Given the description of an element on the screen output the (x, y) to click on. 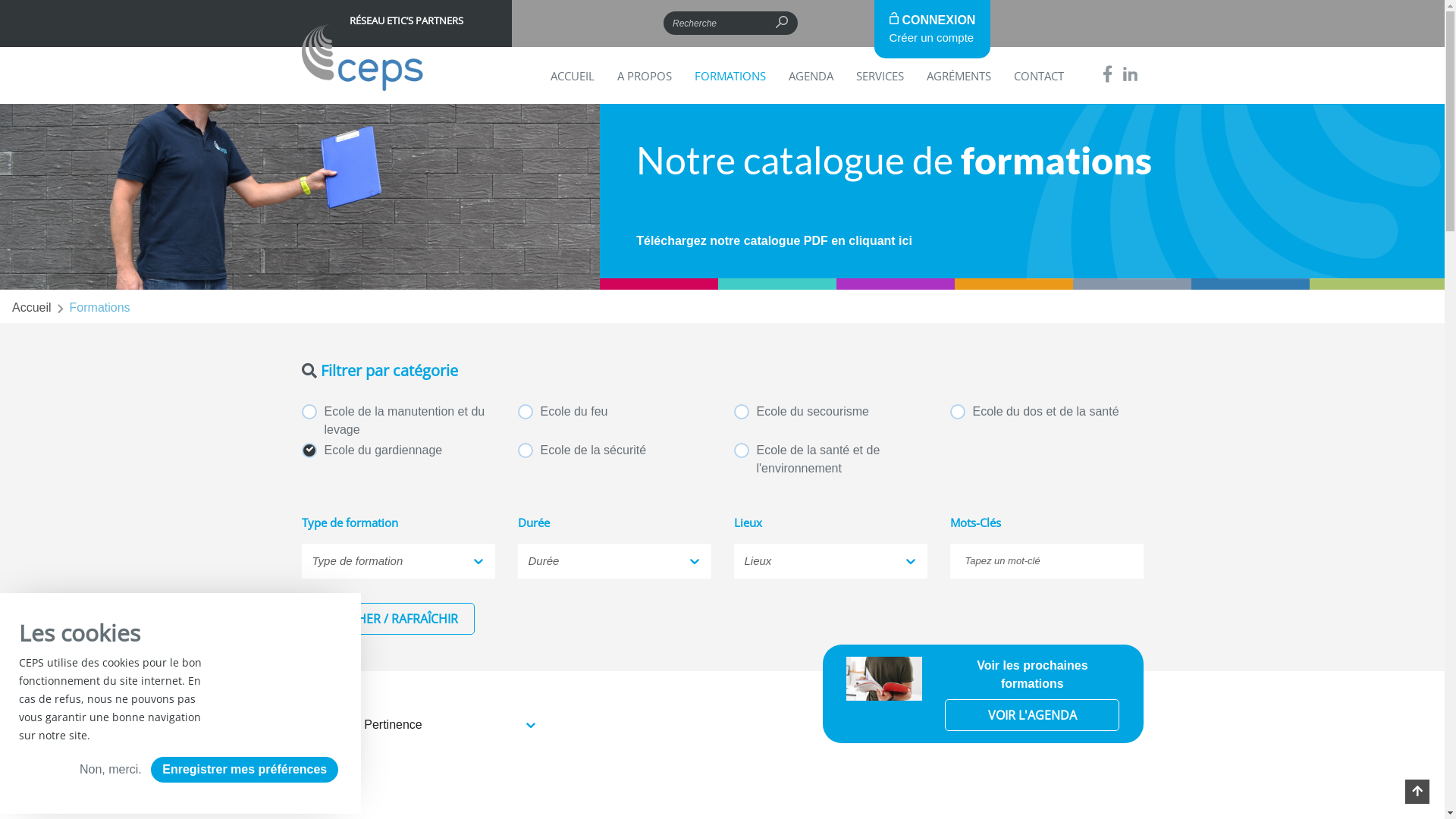
CONNEXION Element type: text (931, 20)
Search Element type: text (813, 23)
formations Element type: text (99, 307)
AGENDA Element type: text (810, 75)
SERVICES Element type: text (879, 75)
VOIR L'AGENDA Element type: text (1031, 715)
Search Element type: text (363, 61)
Aller au contenu principal Element type: text (0, 0)
Accueil Element type: text (31, 307)
FORMATIONS Element type: text (729, 75)
A PROPOS Element type: text (644, 75)
CONTACT Element type: text (1038, 75)
Non, merci. Element type: text (110, 769)
ACCUEIL Element type: text (572, 75)
